Given the description of an element on the screen output the (x, y) to click on. 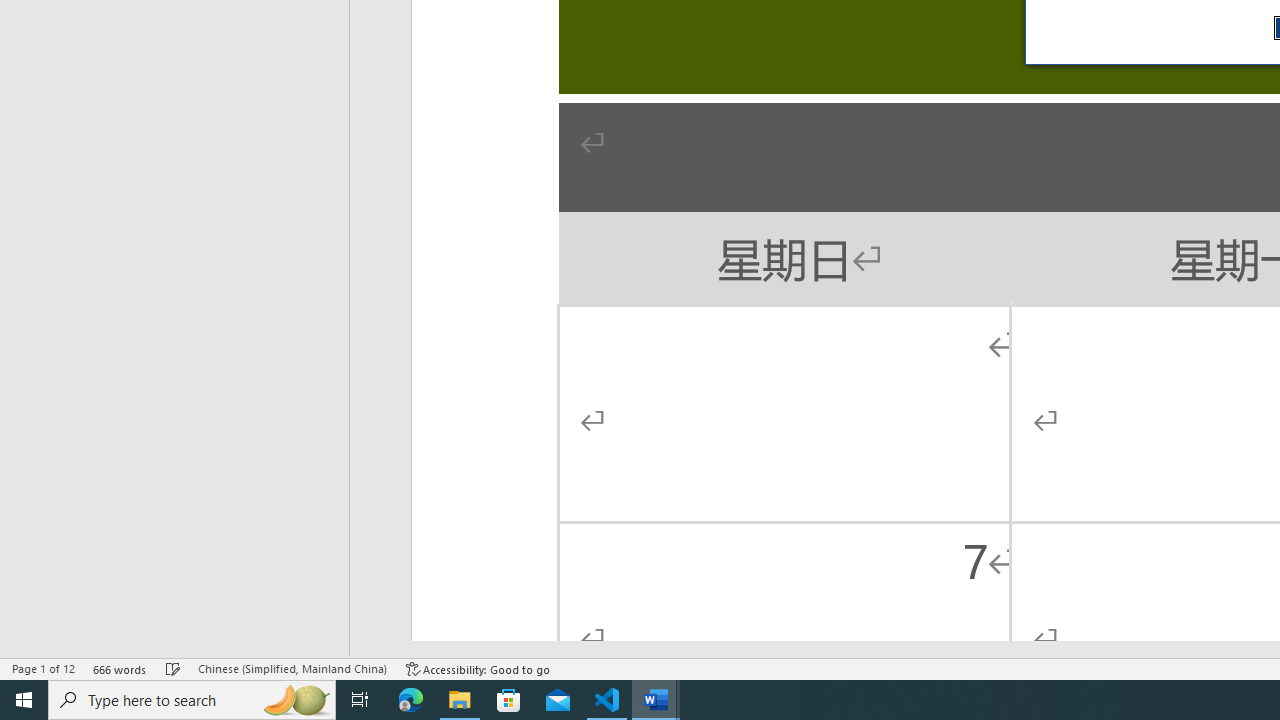
Search highlights icon opens search home window (295, 699)
Microsoft Edge (411, 699)
Word - 2 running windows (656, 699)
Visual Studio Code - 1 running window (607, 699)
Page Number Page 1 of 12 (43, 668)
Word Count 666 words (119, 668)
Type here to search (191, 699)
Task View (359, 699)
Accessibility Checker Accessibility: Good to go (478, 668)
Microsoft Store (509, 699)
Language Chinese (Simplified, Mainland China) (292, 668)
File Explorer - 1 running window (460, 699)
Spelling and Grammar Check Checking (173, 668)
